Given the description of an element on the screen output the (x, y) to click on. 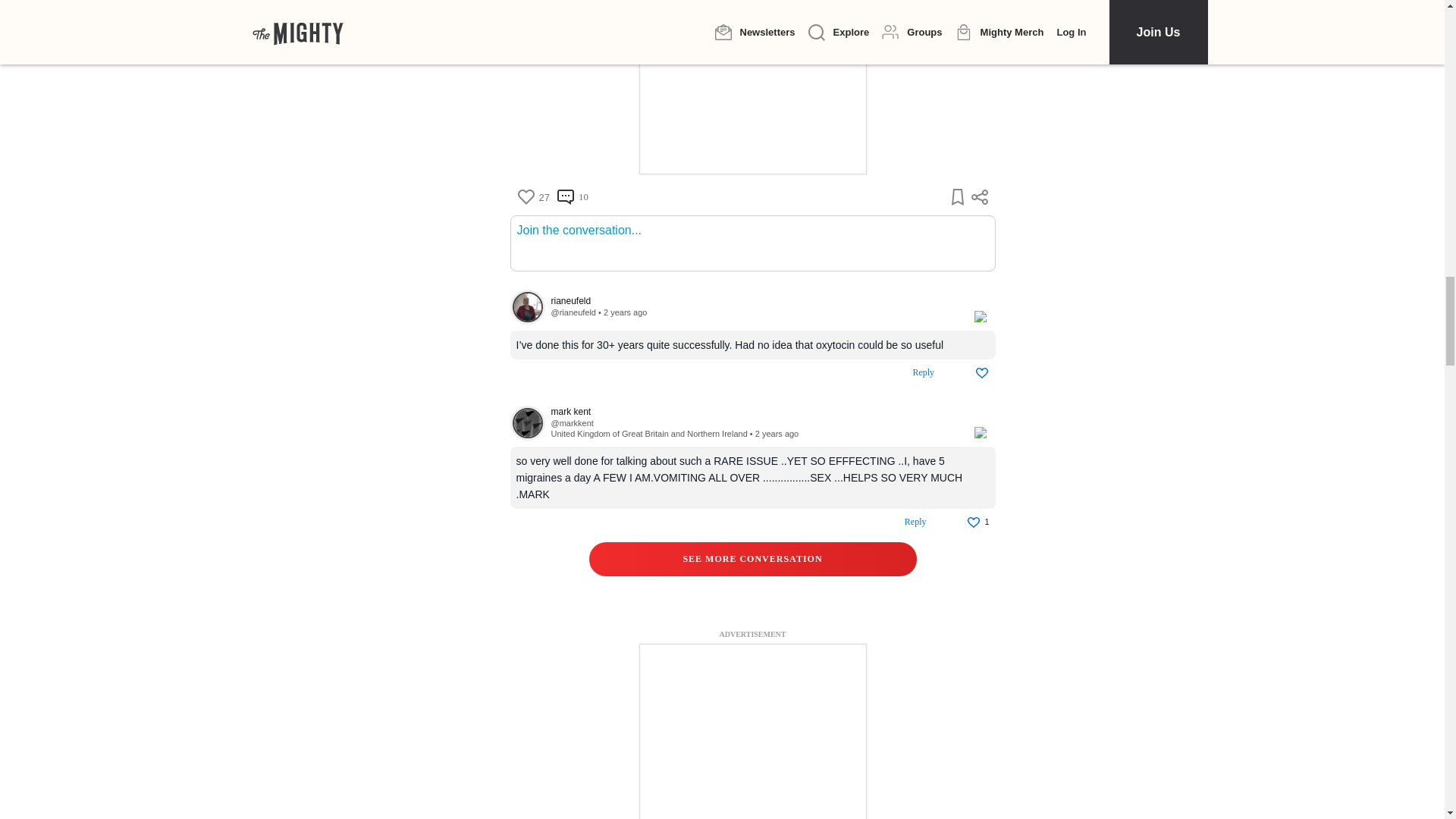
View their profile (754, 411)
27 (532, 196)
View their profile (571, 422)
View their profile (754, 301)
View their profile (572, 311)
View their profile (526, 306)
View their profile (526, 422)
